Given the description of an element on the screen output the (x, y) to click on. 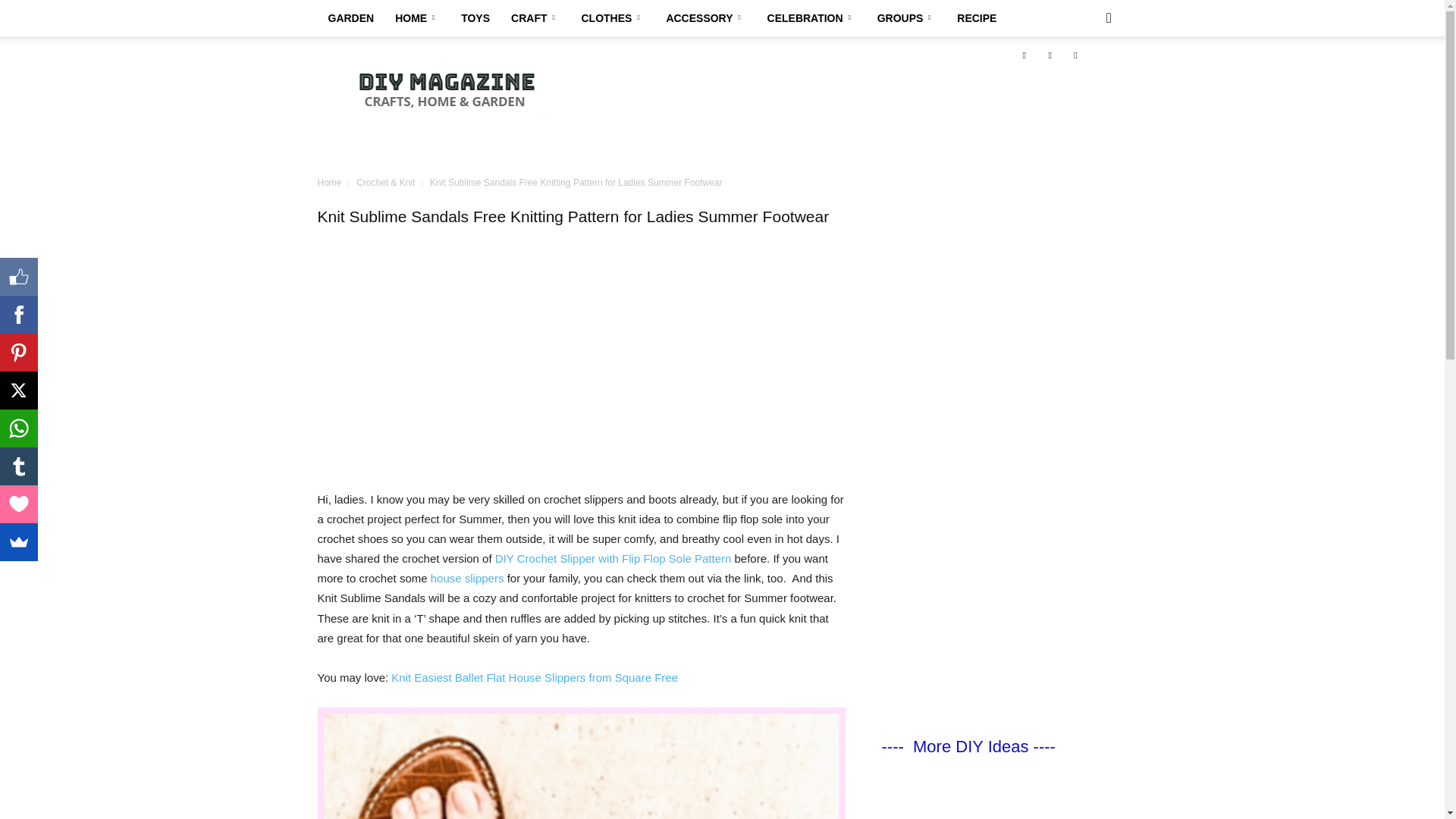
DIY Crochet Slipper with Flip Flop Sole Pattern (613, 558)
Advertisement (850, 124)
Facebook Like (18, 276)
Advertisement (580, 376)
